Given the description of an element on the screen output the (x, y) to click on. 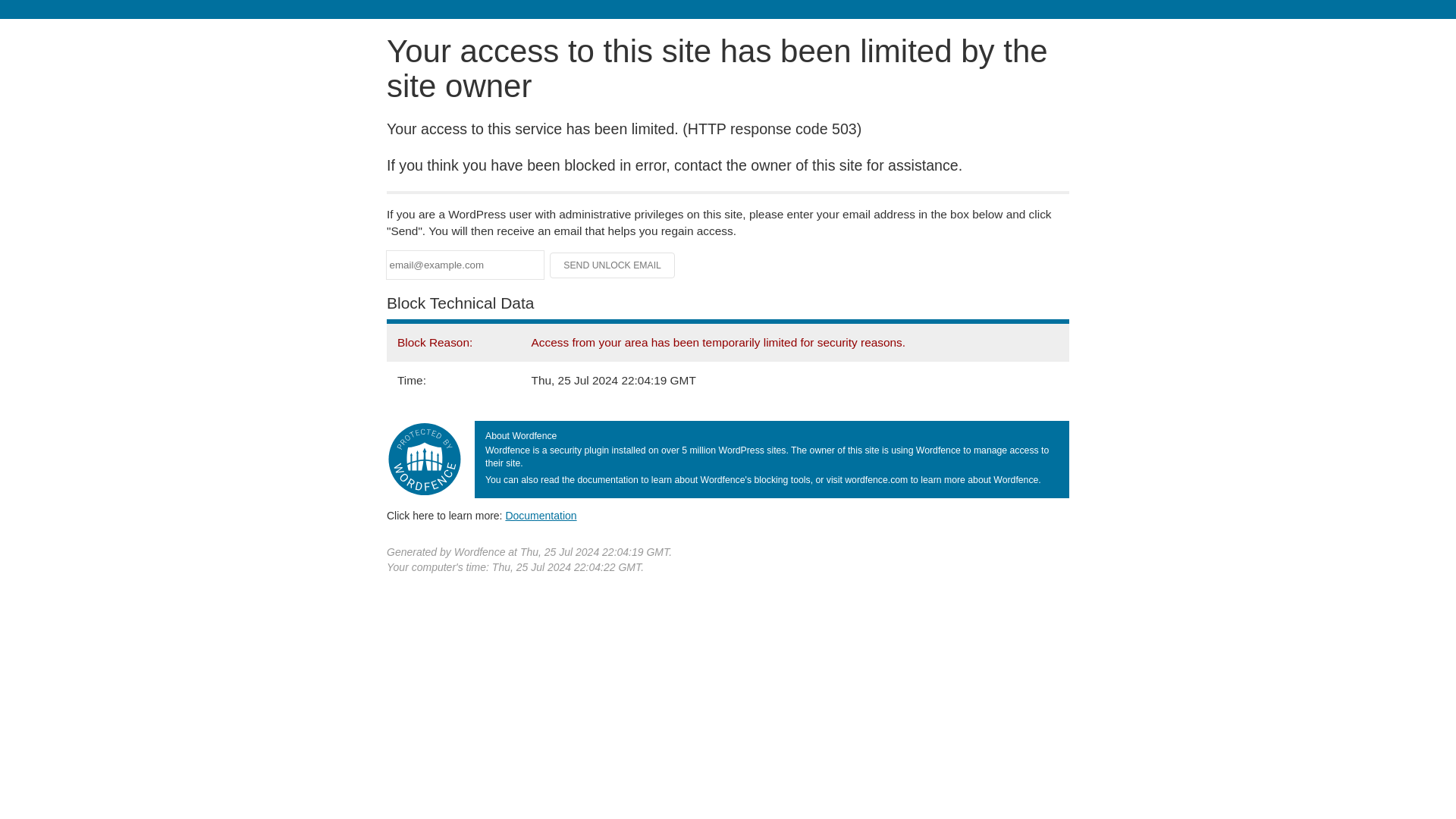
Documentation (540, 515)
Send Unlock Email (612, 265)
Send Unlock Email (612, 265)
